Given the description of an element on the screen output the (x, y) to click on. 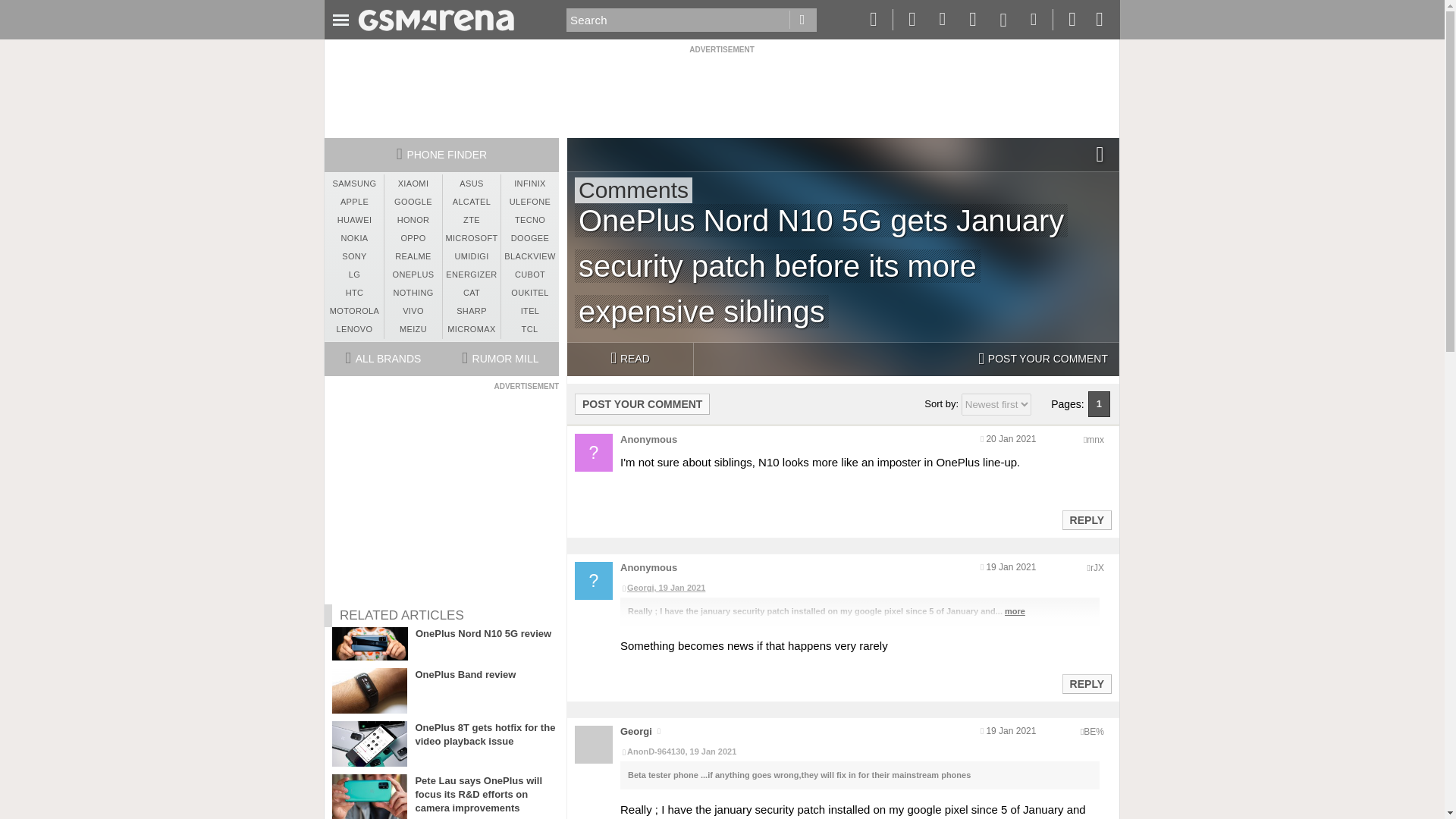
Encoded anonymized location (1094, 439)
Reply to this post (1086, 520)
Reply to this post (1086, 684)
Go (802, 19)
Go (802, 19)
Georgi, 19 Jan 2021 (859, 588)
POST YOUR COMMENT (1042, 359)
Encoded anonymized location (1096, 567)
POST YOUR COMMENT (642, 403)
Sort comments by (995, 404)
REPLY (1086, 520)
more (1014, 610)
REPLY (1086, 683)
Encoded anonymized location (1093, 731)
Georgi (636, 731)
